Given the description of an element on the screen output the (x, y) to click on. 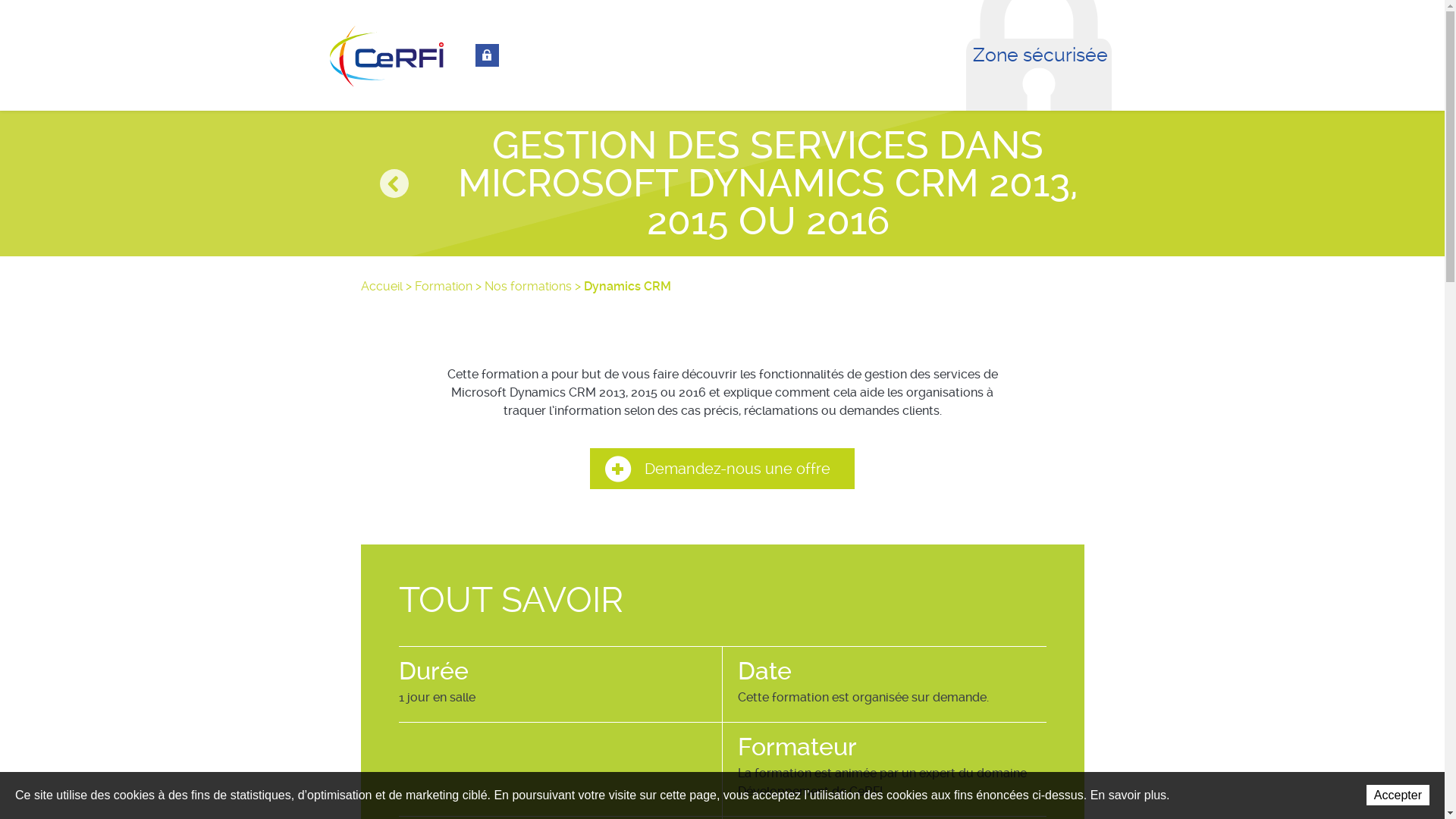
Connexion Element type: text (486, 54)
Accepter Element type: text (1397, 794)
Accueil Element type: text (381, 286)
Formation Element type: text (442, 286)
CeRFI Element type: text (386, 55)
Nos formations Element type: text (527, 286)
Demandez-nous une offre Element type: text (722, 468)
